Given the description of an element on the screen output the (x, y) to click on. 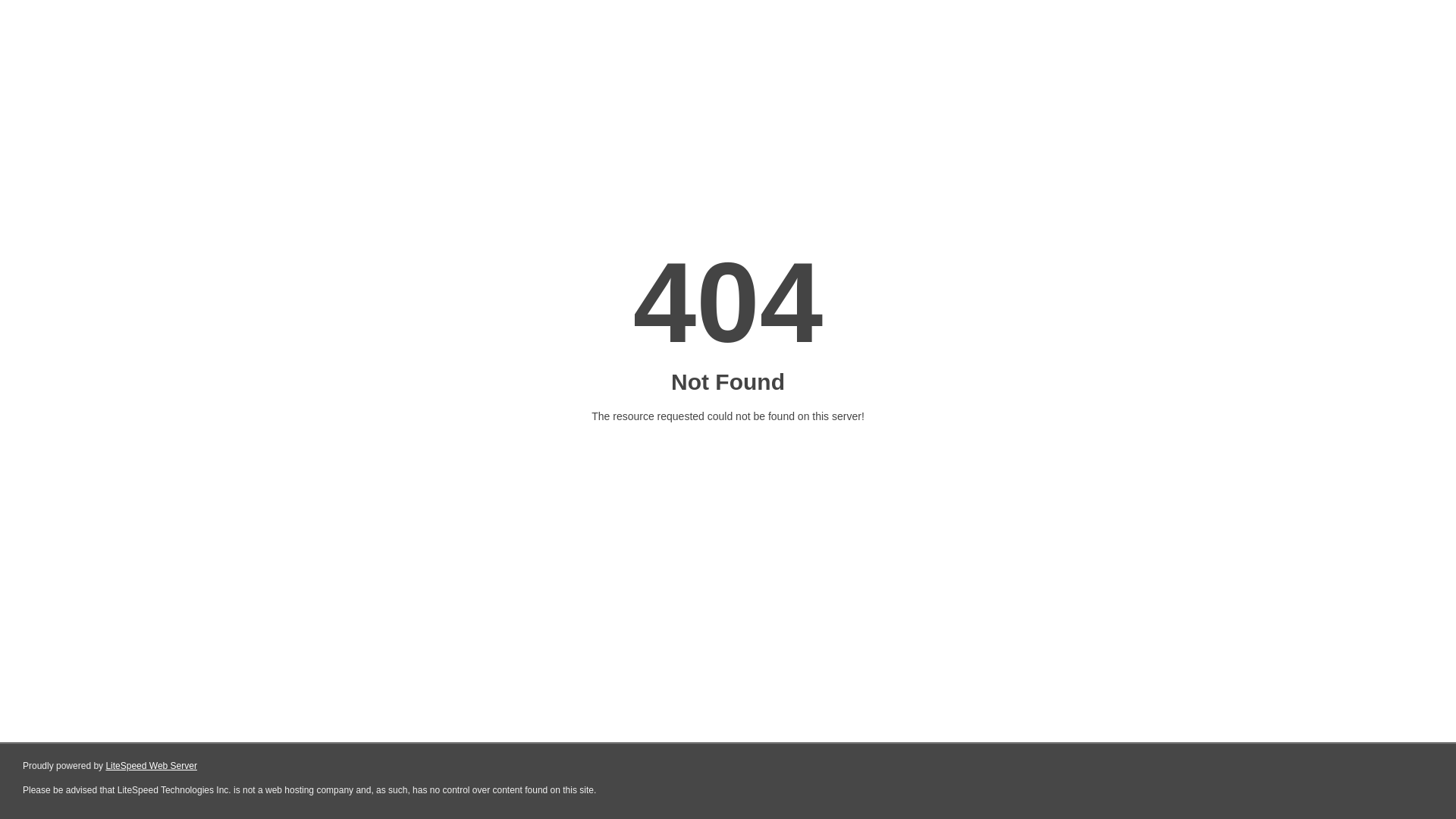
LiteSpeed Web Server Element type: text (151, 765)
